Given the description of an element on the screen output the (x, y) to click on. 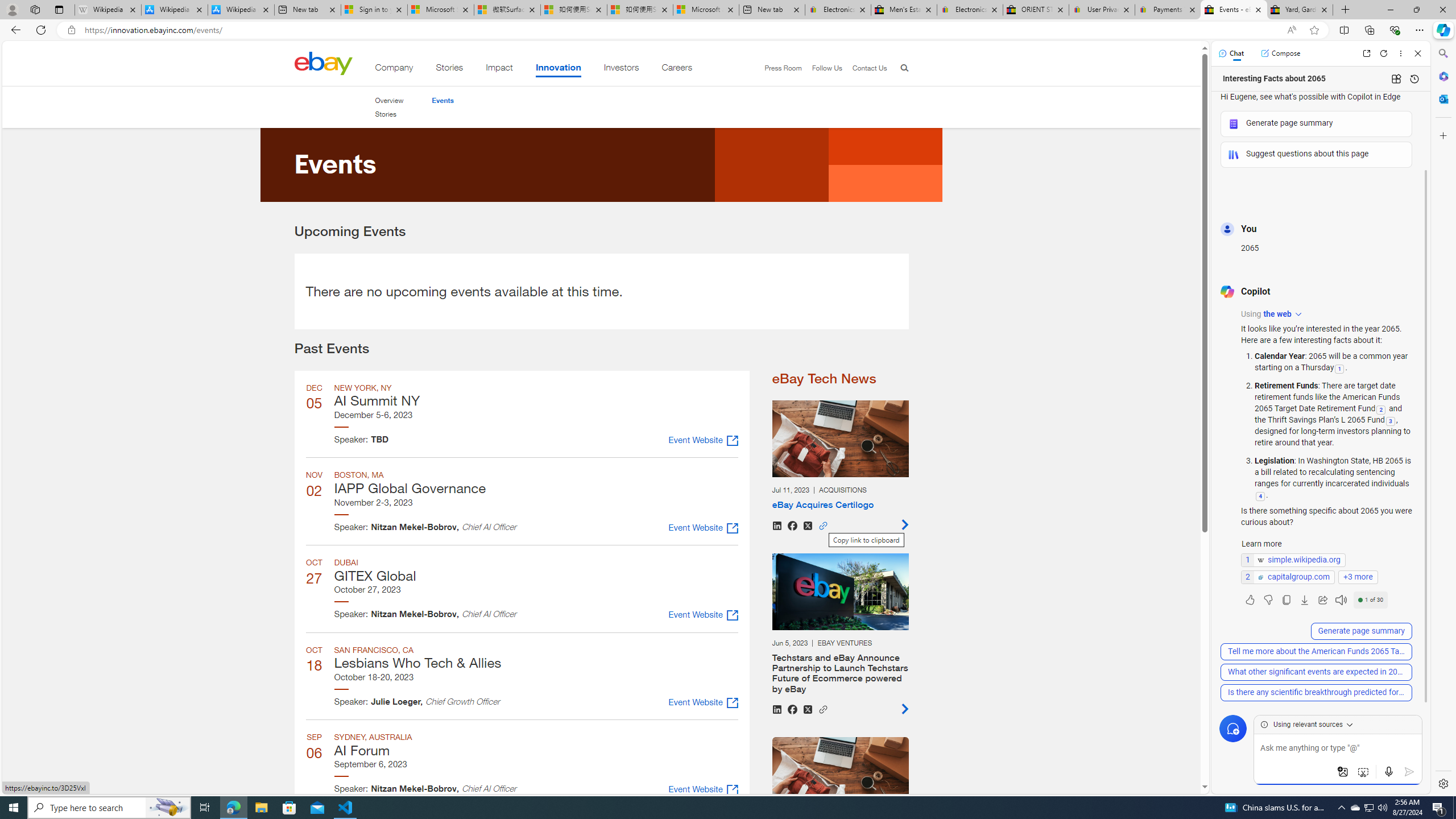
Innovation . This is the current section. (557, 69)
Chat (1231, 52)
Microsoft account | Account Checkup (706, 9)
Press Room (783, 67)
